Given the description of an element on the screen output the (x, y) to click on. 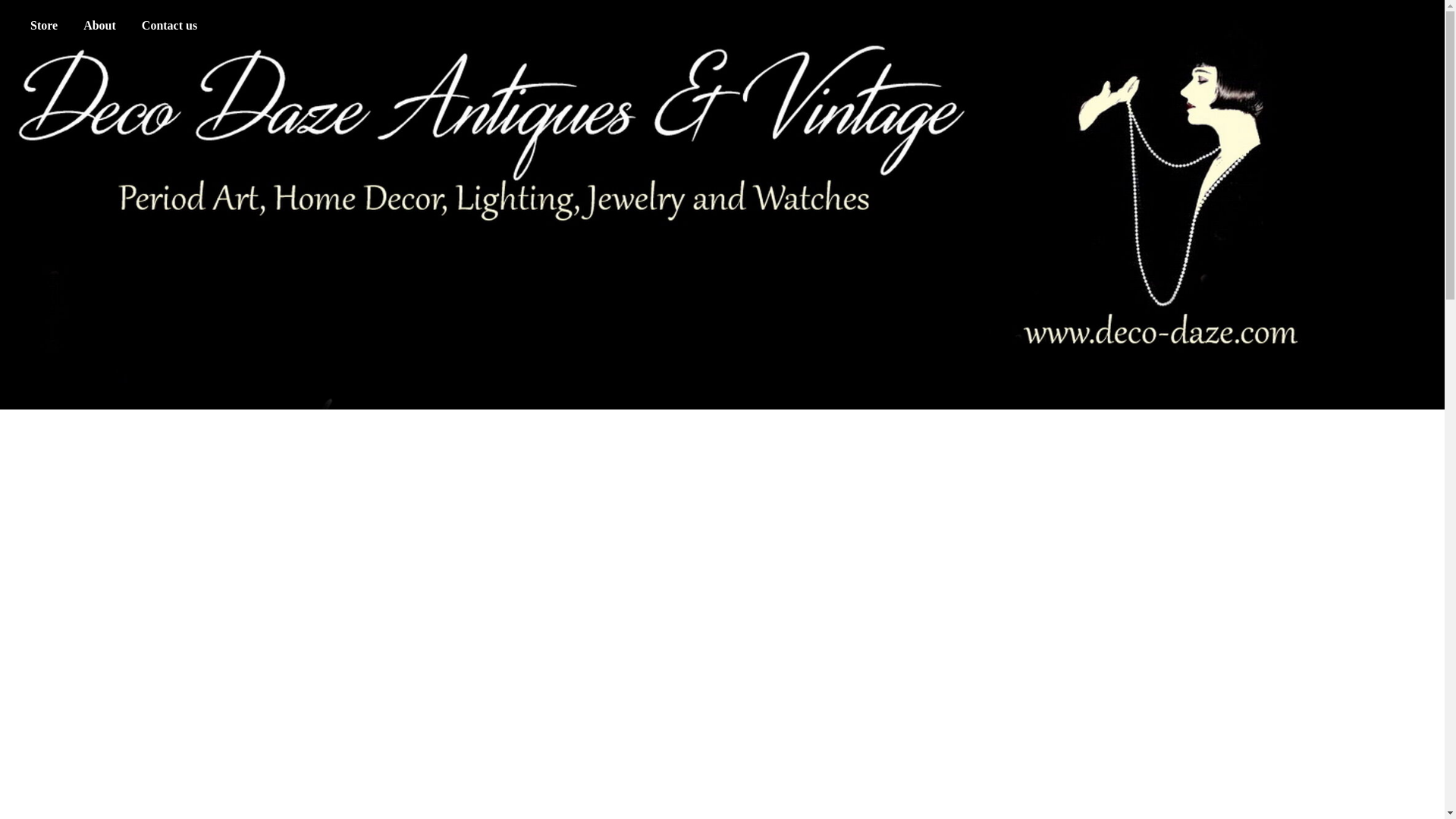
About (99, 25)
Store (43, 25)
Contact us (169, 25)
